Given the description of an element on the screen output the (x, y) to click on. 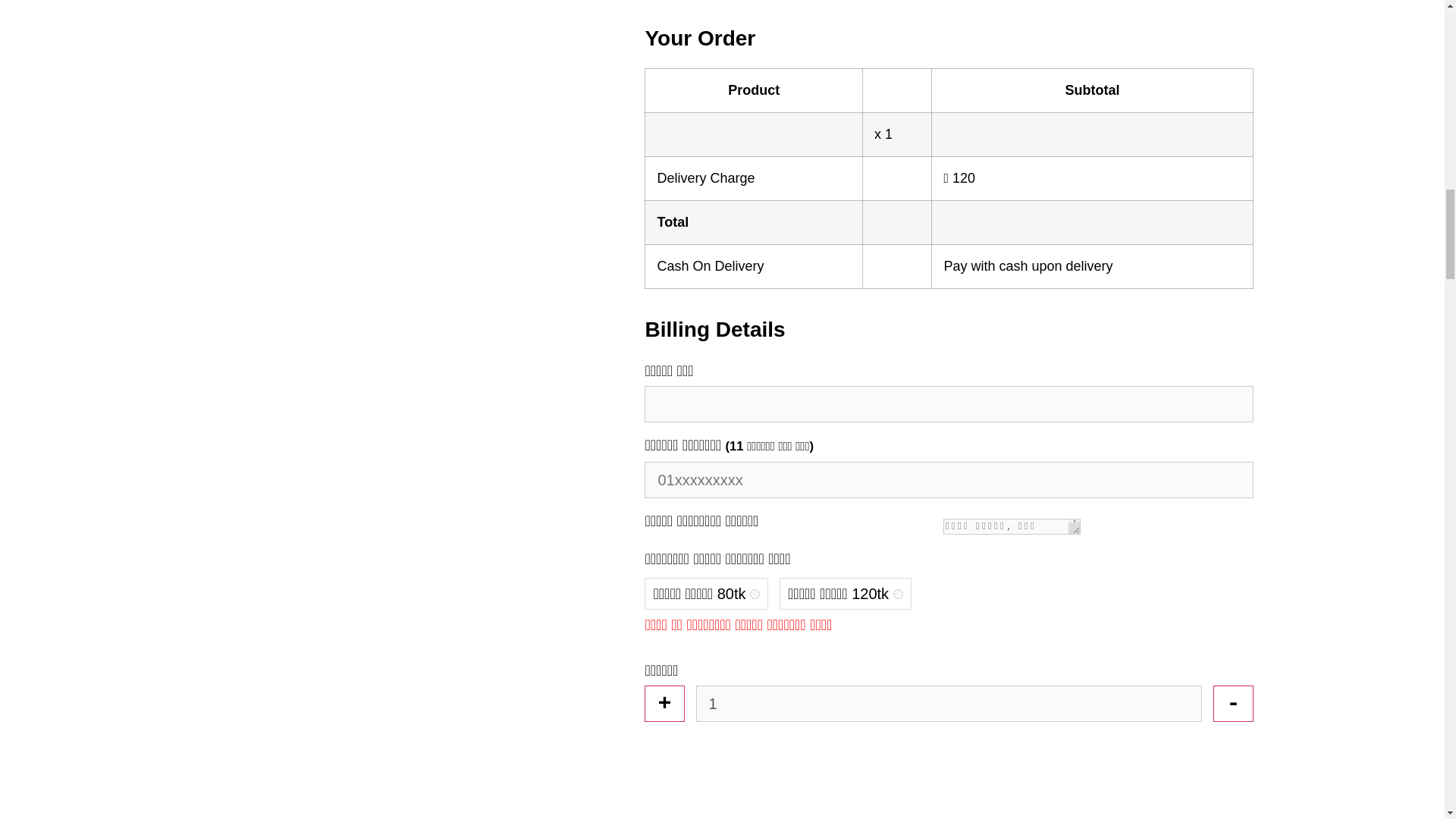
80 (754, 593)
1 (948, 703)
120 (897, 593)
